Given the description of an element on the screen output the (x, y) to click on. 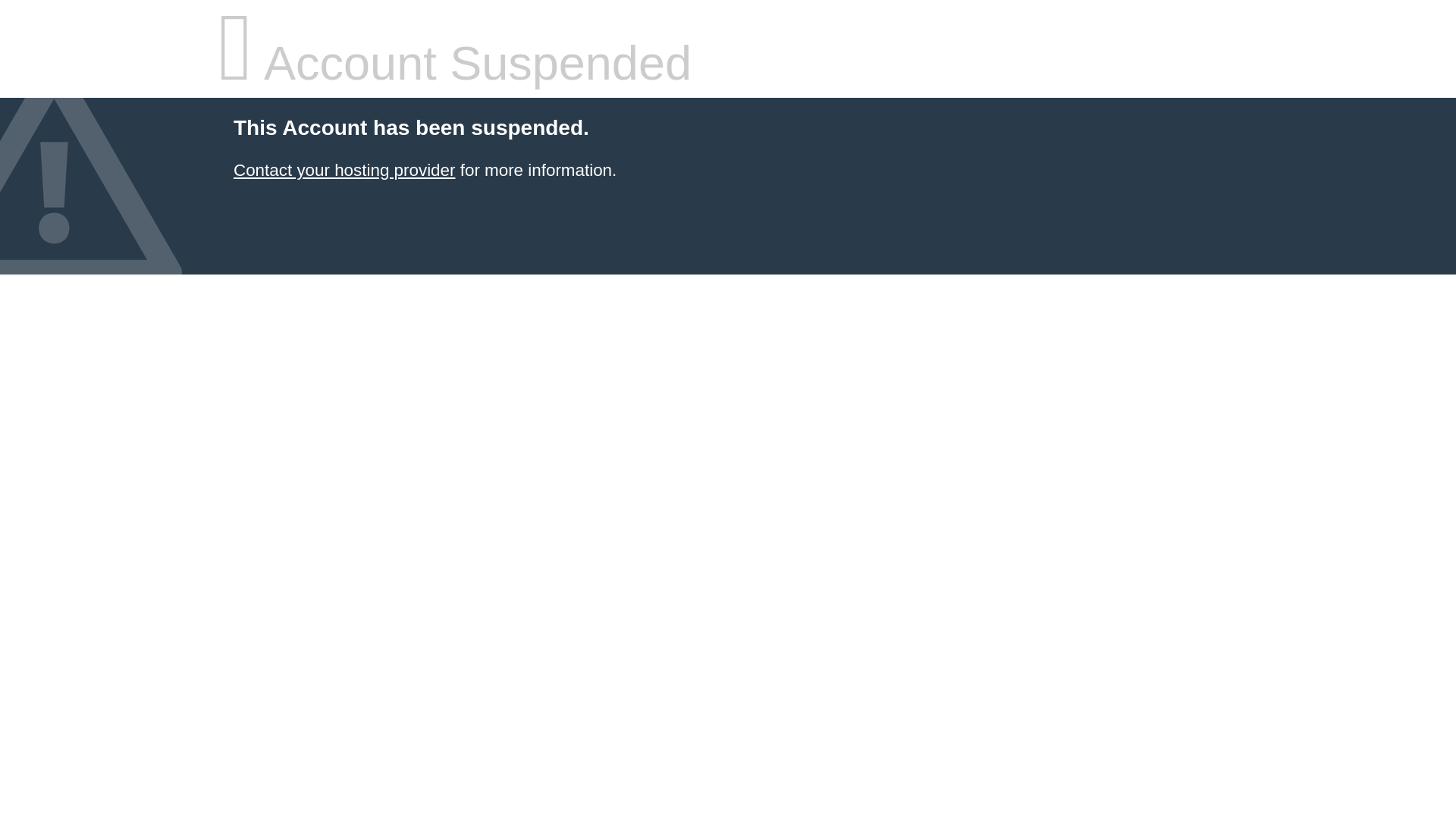
Contact your hosting provider (343, 169)
